Given the description of an element on the screen output the (x, y) to click on. 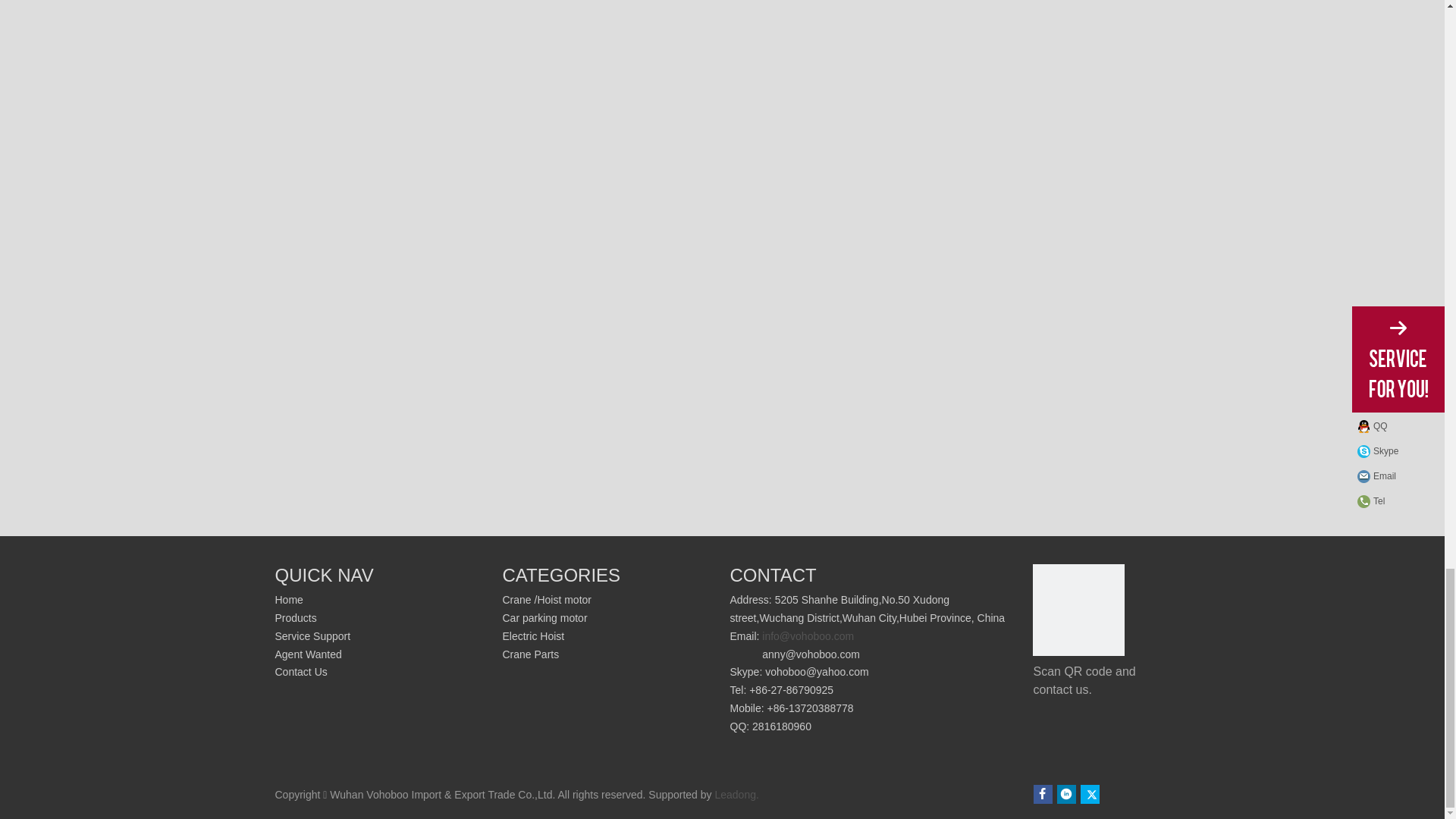
Agent Wanted (307, 654)
Linkedin (1066, 793)
Facebook (1042, 793)
Products (295, 617)
Contact Us (300, 671)
Electric Hoist (533, 635)
Crane Parts (530, 654)
Service Support (312, 635)
Car parking motor (544, 617)
Twitter (1089, 793)
Home (288, 599)
